Given the description of an element on the screen output the (x, y) to click on. 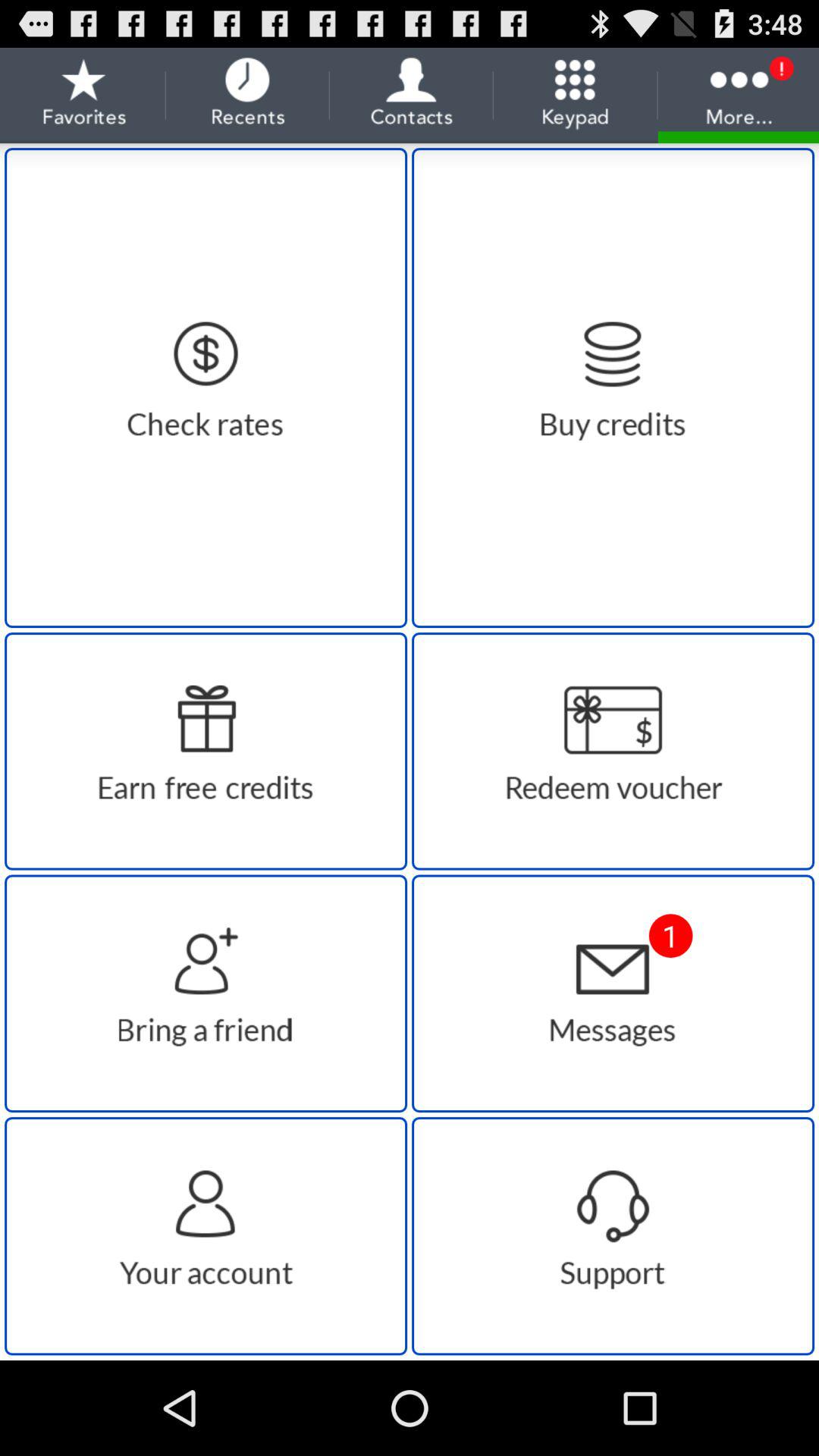
check messages (612, 993)
